Given the description of an element on the screen output the (x, y) to click on. 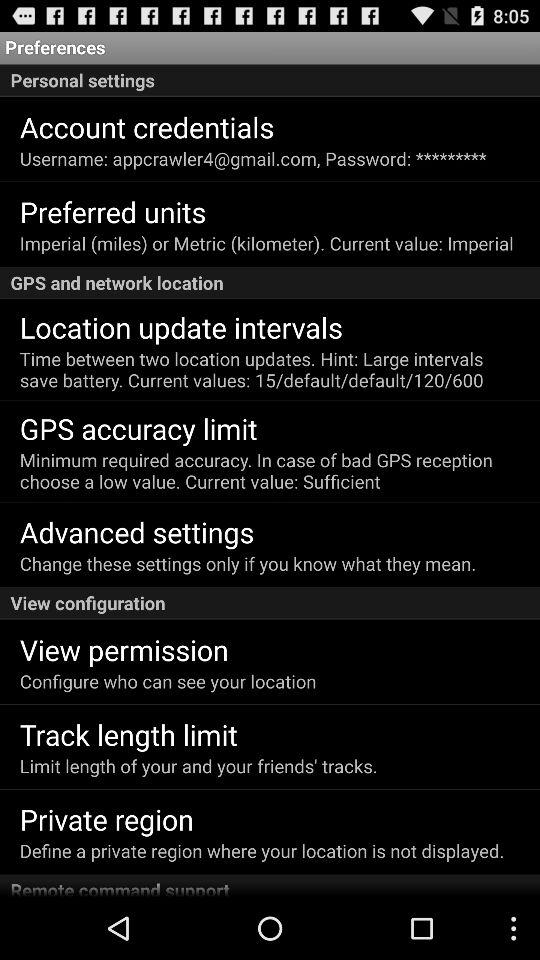
turn off the app below account credentials app (252, 158)
